Given the description of an element on the screen output the (x, y) to click on. 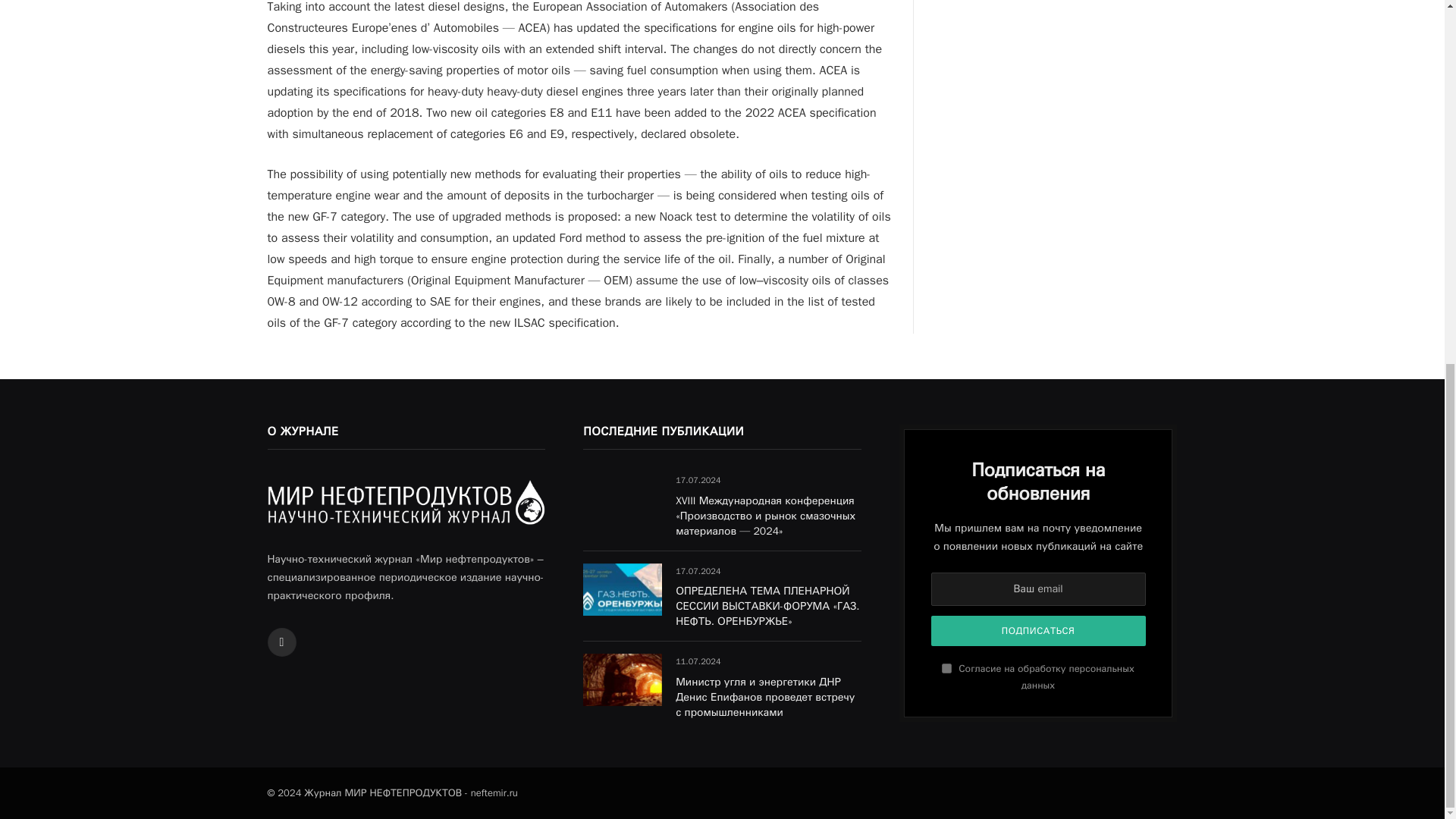
on (947, 668)
